Given the description of an element on the screen output the (x, y) to click on. 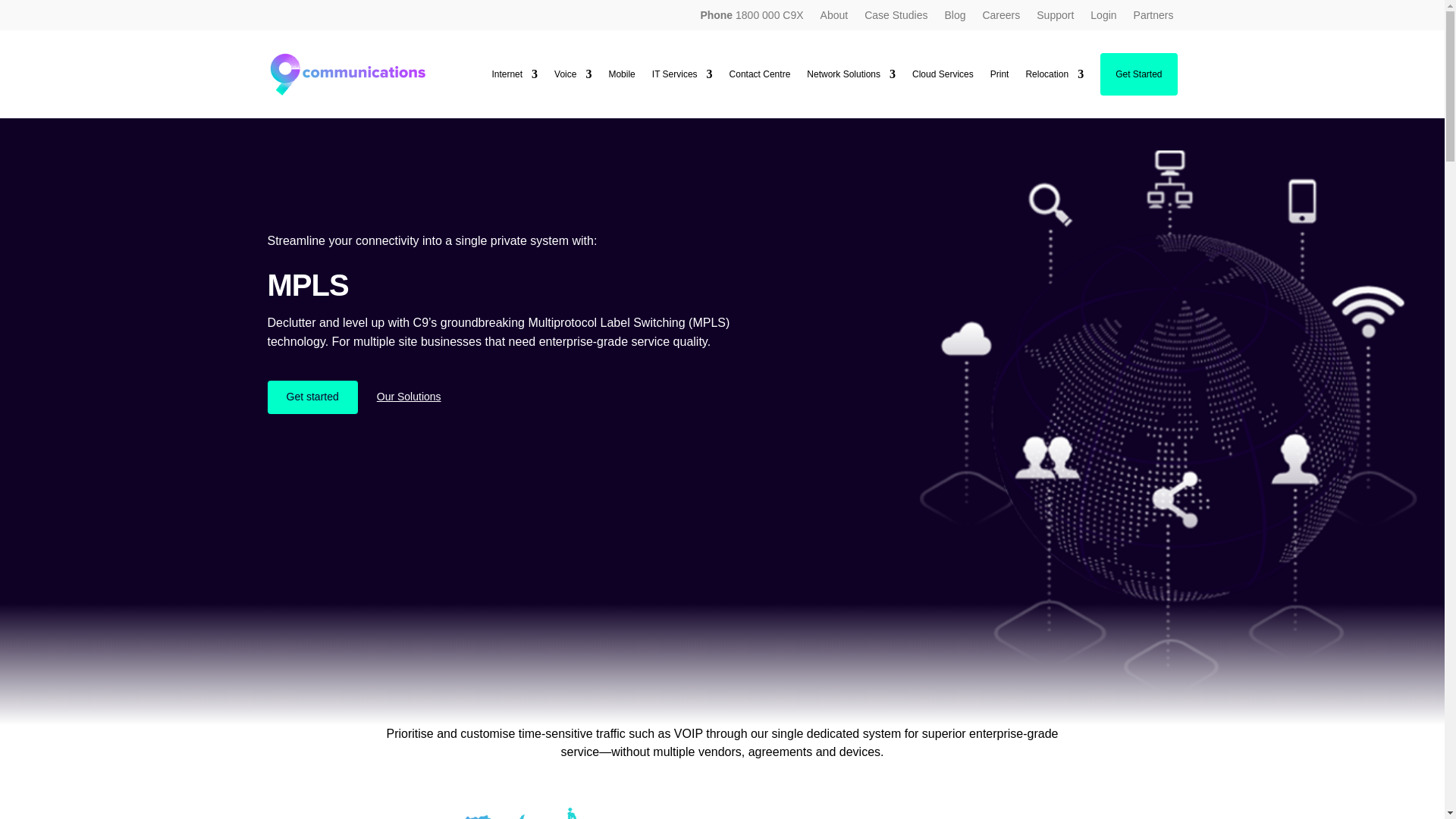
Blog (954, 17)
Careers (1000, 17)
Case Studies (895, 17)
About (834, 17)
Phone 1800 000 C9X (751, 17)
Network Solutions (850, 74)
Support (1055, 17)
Contact Centre (759, 74)
Partners (1153, 17)
IT Services (682, 74)
